Given the description of an element on the screen output the (x, y) to click on. 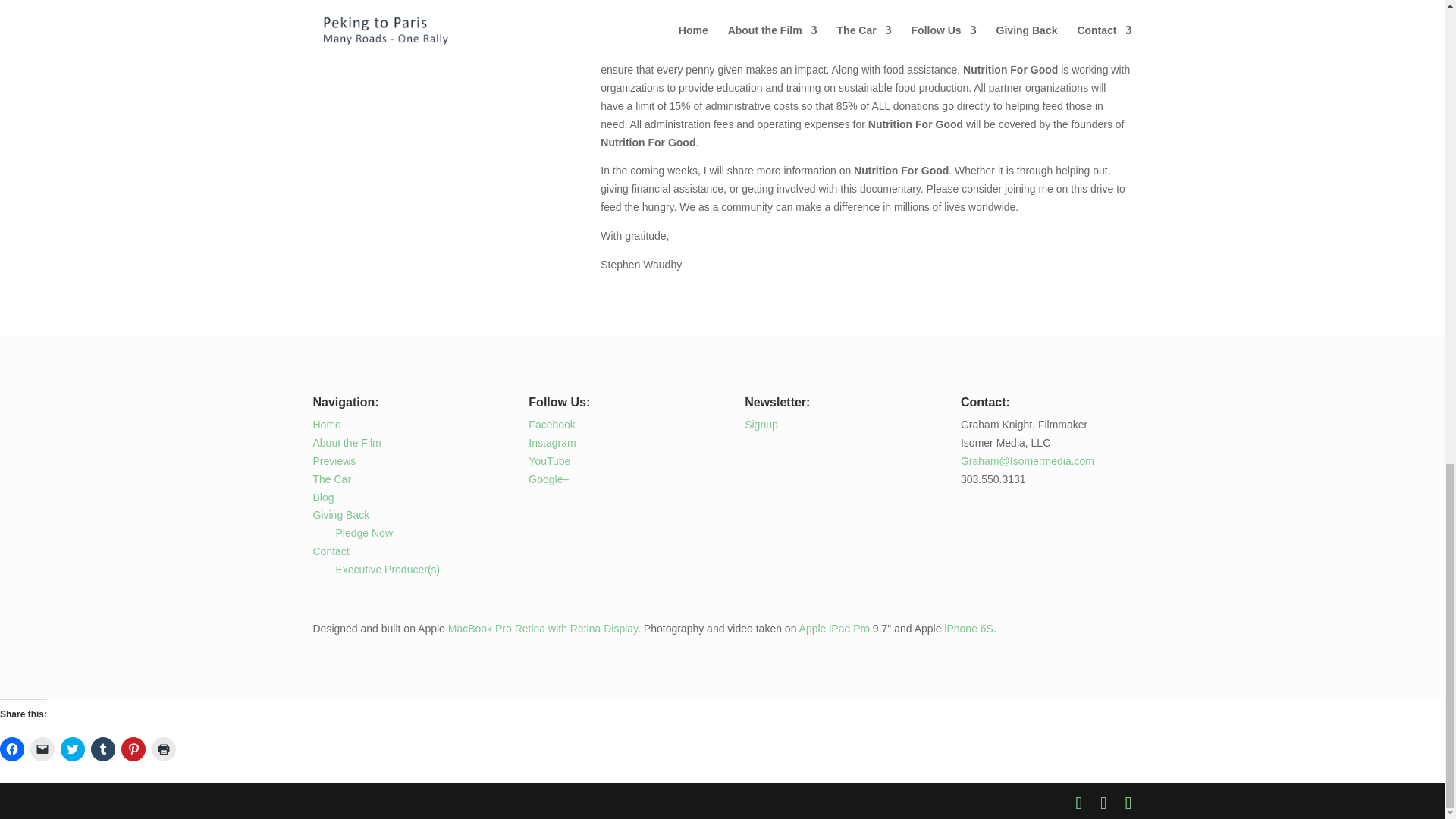
About the Film (346, 442)
Home (326, 424)
Click to email a link to a friend (42, 749)
Previews (334, 460)
The Car (331, 479)
Click to share on Pinterest (132, 749)
Click to print (163, 749)
Click to share on Twitter (72, 749)
Click to share on Facebook (12, 749)
Click to share on Tumblr (102, 749)
